Given the description of an element on the screen output the (x, y) to click on. 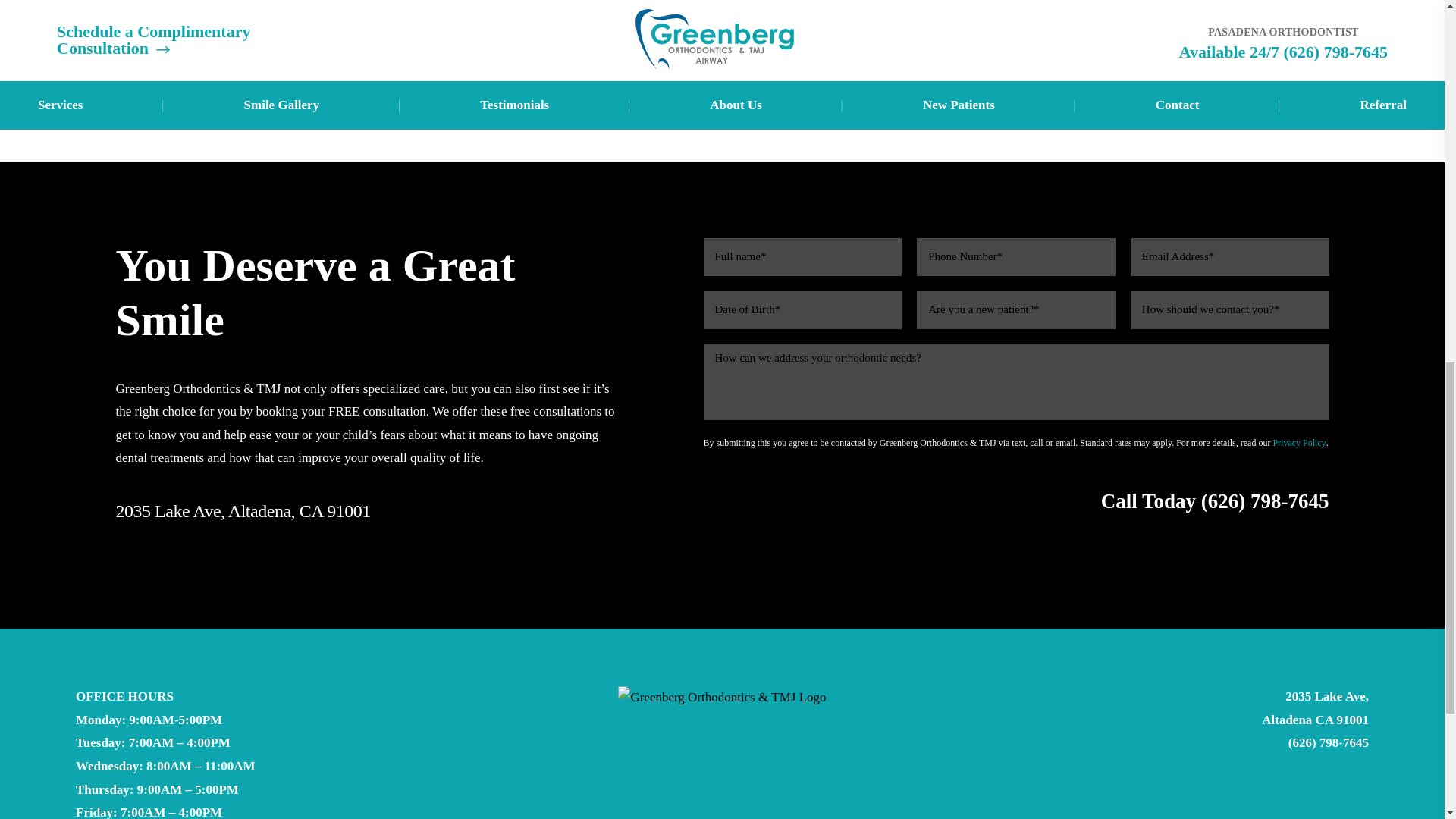
2035 Lake Ave, Altadena, CA 91001 (809, 501)
Submit Form (242, 510)
Privacy Policy (879, 501)
